Given the description of an element on the screen output the (x, y) to click on. 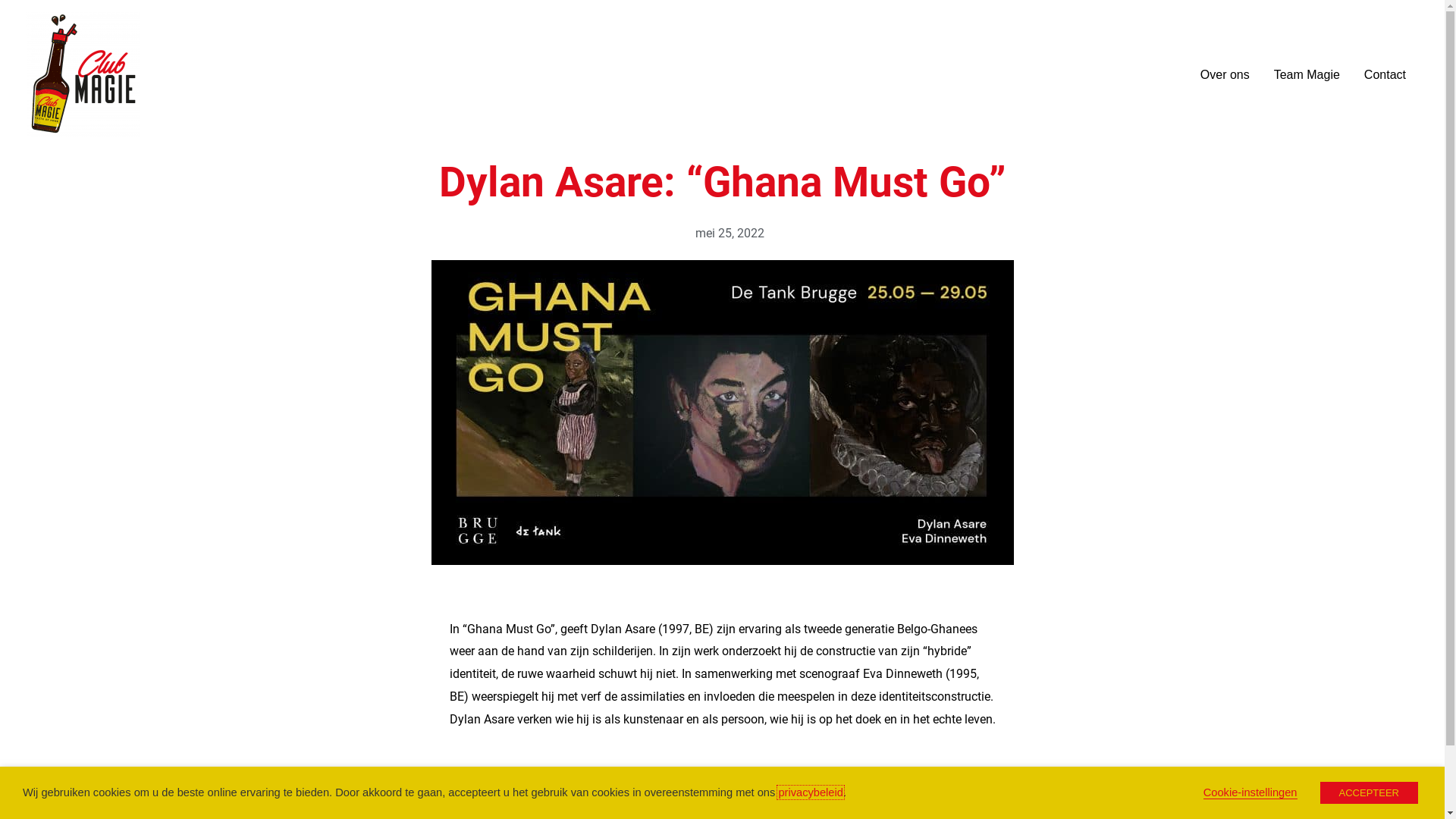
Contact Element type: text (1385, 74)
privacybeleid Element type: text (810, 792)
Over ons Element type: text (1224, 74)
Team Magie Element type: text (1306, 74)
Cookie-instellingen Element type: text (1250, 792)
ACCEPTEER Element type: text (1369, 792)
Privacybeleid Element type: text (743, 801)
mei 25, 2022 Element type: text (722, 233)
Home Element type: text (681, 801)
